Given the description of an element on the screen output the (x, y) to click on. 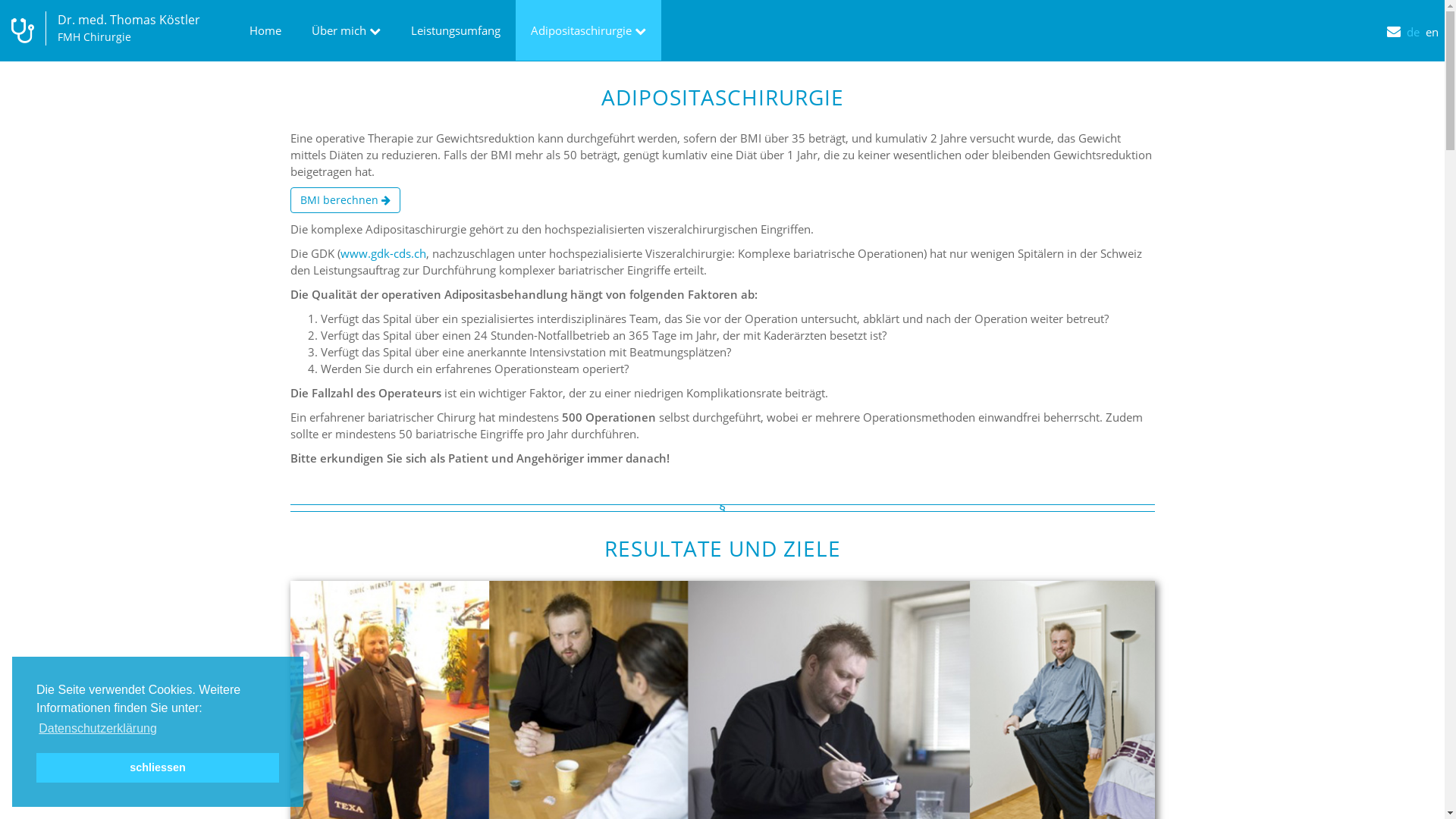
Contact Element type: hover (1396, 19)
Leistungsumfang Element type: text (455, 30)
BMI berechnen Element type: text (344, 200)
schliessen Element type: text (157, 767)
Adipositaschirurgie Element type: text (588, 30)
Home Element type: text (265, 30)
www.gdk-cds.ch Element type: text (382, 252)
en Element type: text (1434, 19)
de Element type: text (1415, 19)
